Given the description of an element on the screen output the (x, y) to click on. 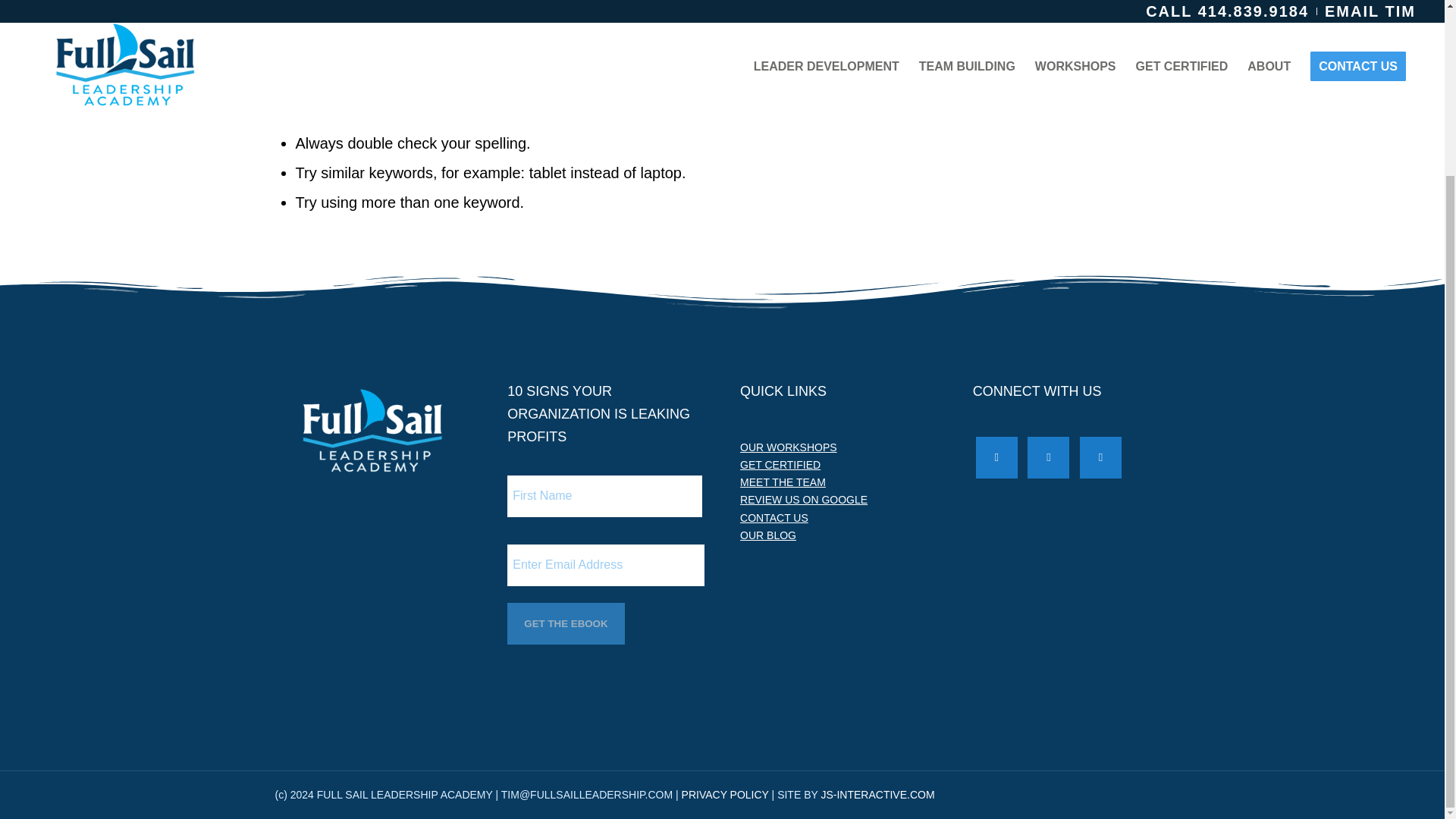
PRIVACY POLICY (724, 794)
facebook (996, 456)
Visit Our Blog (767, 535)
View our workshop (788, 447)
OUR BLOG (767, 535)
MEET THE TEAM (782, 481)
youtube (1100, 456)
Contact us (773, 517)
CONTACT US (773, 517)
JS-INTERACTIVE.COM (877, 794)
